Given the description of an element on the screen output the (x, y) to click on. 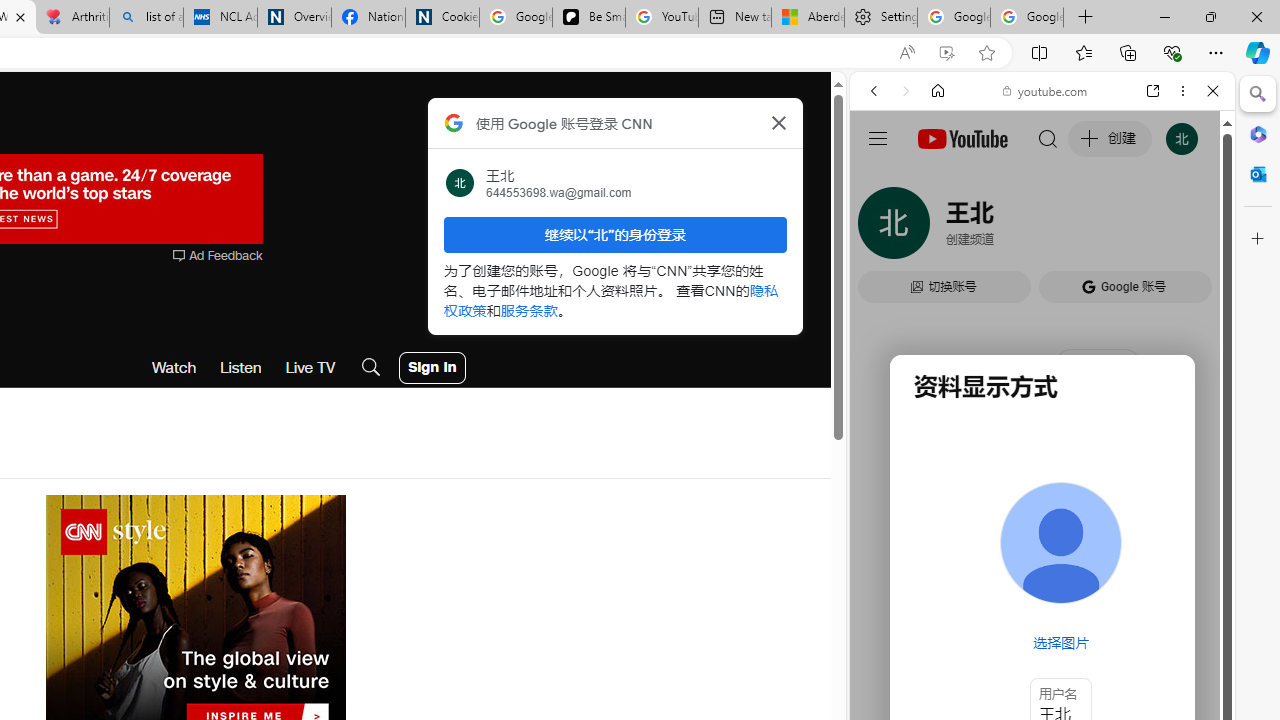
WEB   (882, 228)
Search the web (1051, 137)
